Given the description of an element on the screen output the (x, y) to click on. 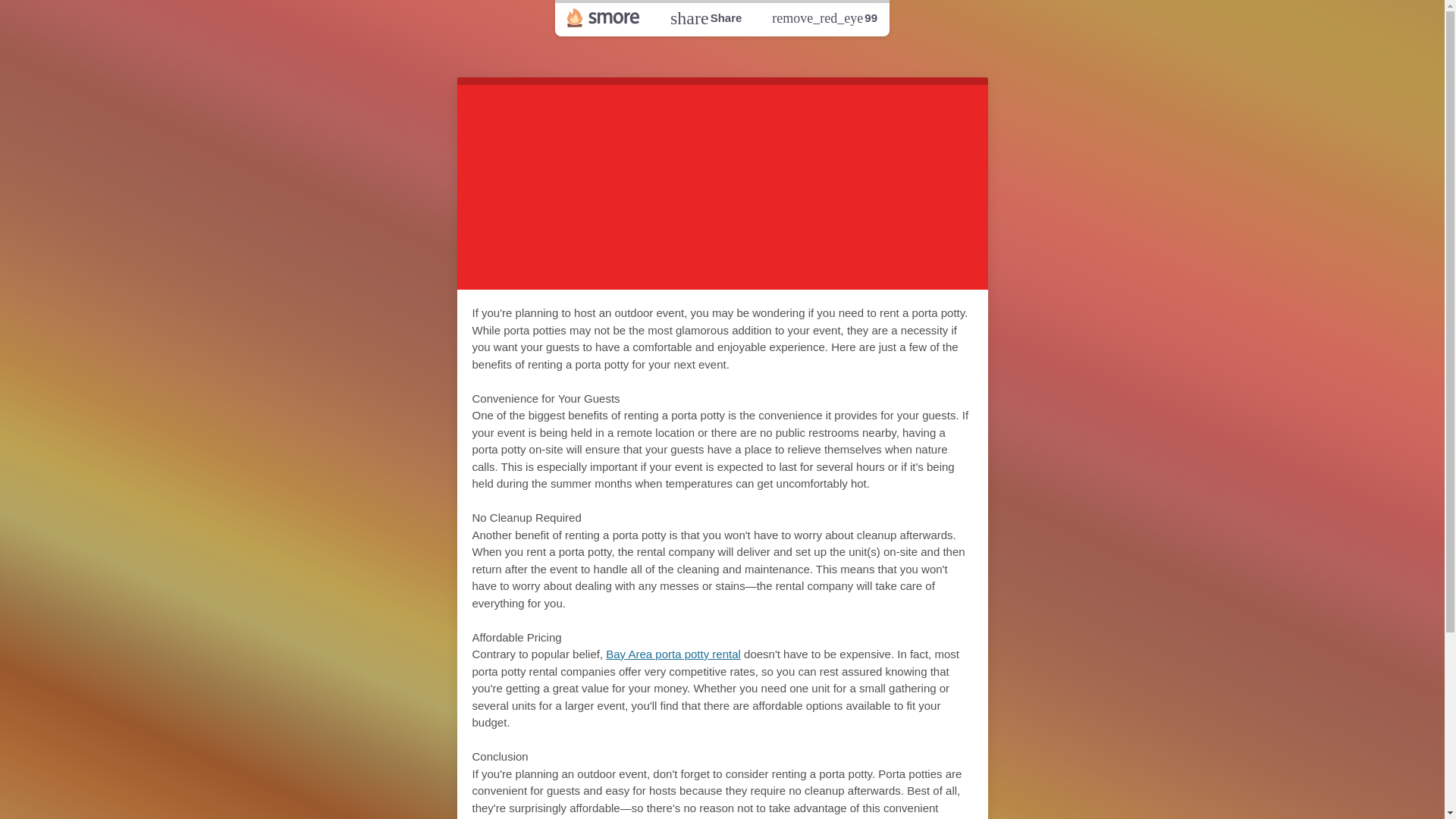
Bay Area porta potty rental (705, 18)
